Given the description of an element on the screen output the (x, y) to click on. 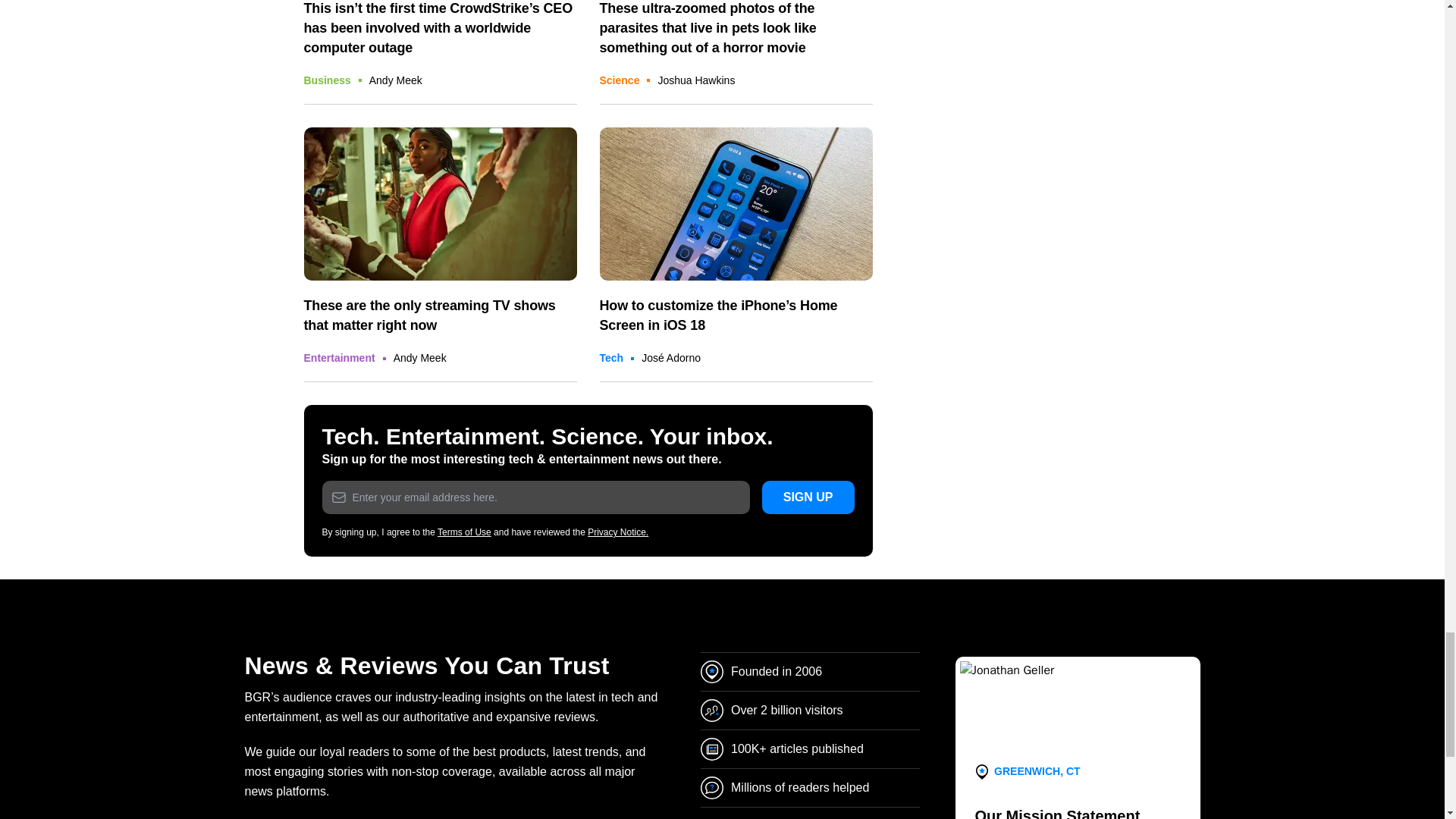
TV shows (439, 204)
Posts by Andy Meek (419, 357)
Posts by Joshua Hawkins (696, 80)
Posts by Andy Meek (395, 80)
